Given the description of an element on the screen output the (x, y) to click on. 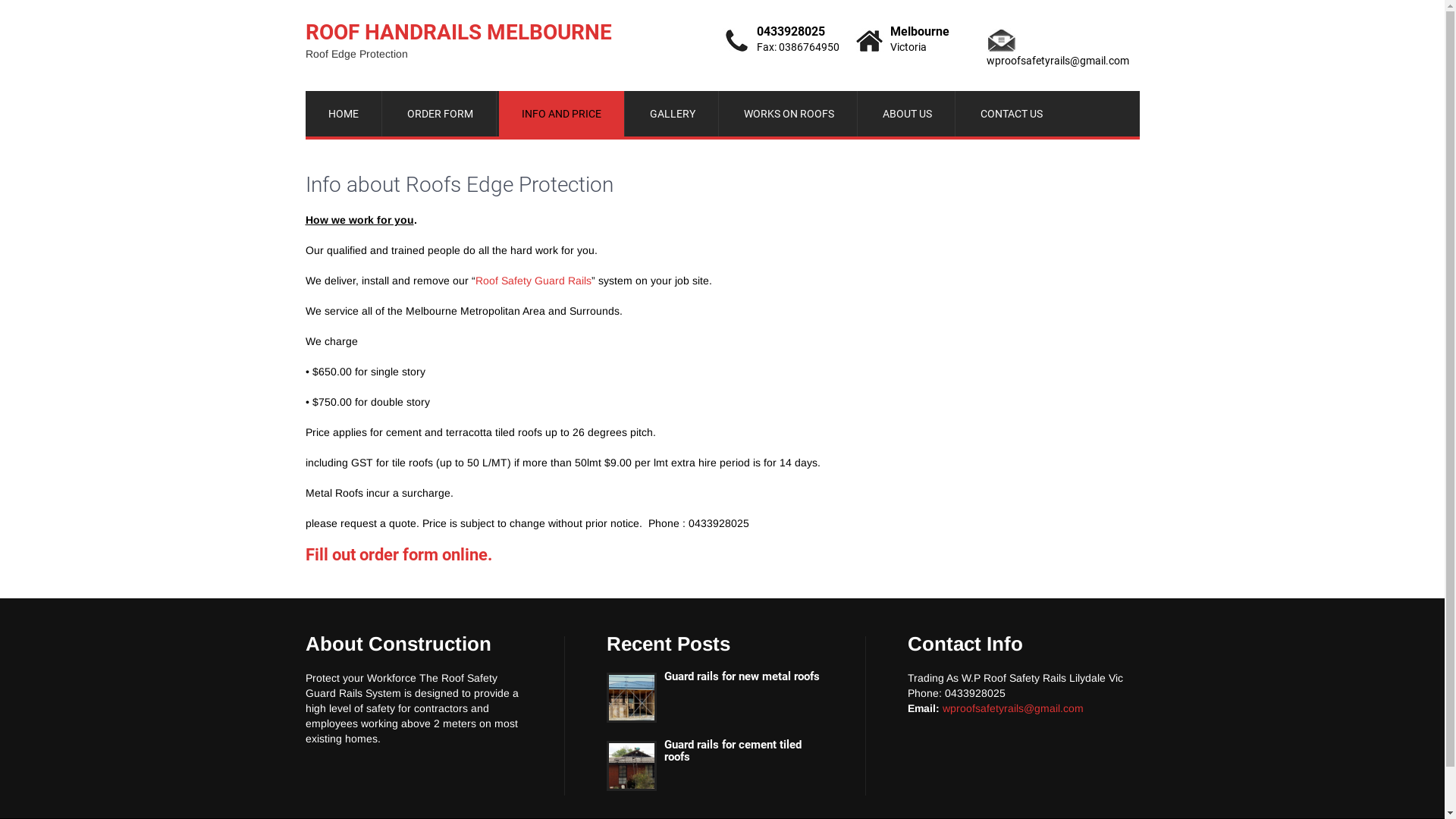
ORDER FORM Element type: text (439, 113)
Guard rails for cement tiled roofs Element type: text (714, 750)
Roof Safety Guard Rails Element type: text (532, 280)
Guard rails for new metal roofs Element type: text (714, 676)
GALLERY Element type: text (672, 113)
Fill out order form online. Element type: text (397, 554)
WORKS ON ROOFS Element type: text (788, 113)
wproofsafetyrails@gmail.com Element type: text (1011, 708)
ABOUT US Element type: text (907, 113)
CONTACT US Element type: text (1010, 113)
ROOF HANDRAILS MELBOURNE
Roof Edge Protection Element type: text (457, 38)
HOME Element type: text (342, 113)
INFO AND PRICE Element type: text (561, 113)
